Given the description of an element on the screen output the (x, y) to click on. 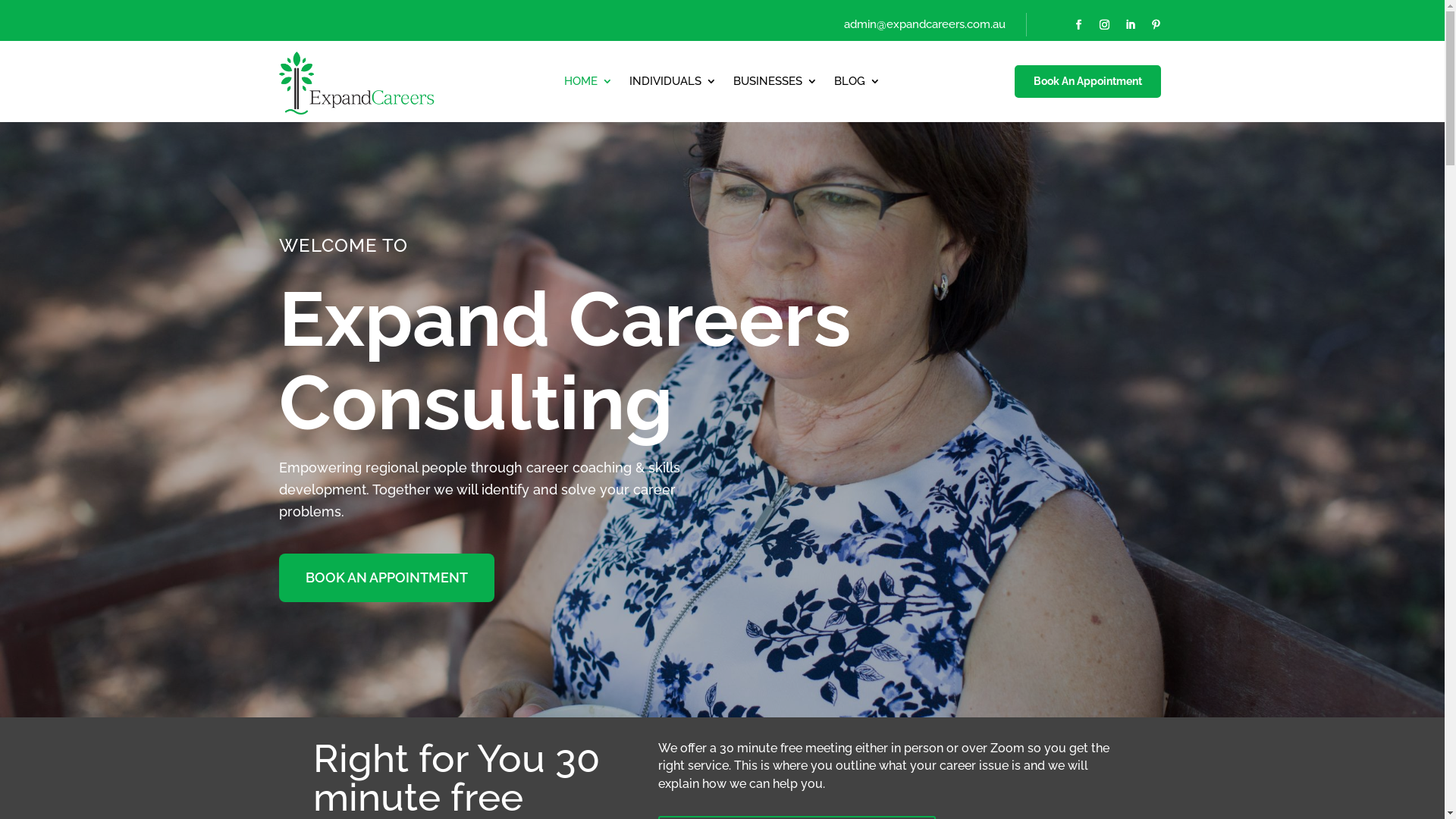
Follow on Pinterest Element type: hover (1155, 24)
Follow on LinkedIn Element type: hover (1129, 24)
BUSINESSES Element type: text (775, 83)
HOME Element type: text (588, 83)
Expand-Careers-horiz-logo Element type: hover (357, 80)
Book An Appointment Element type: text (1087, 81)
admin@expandcareers.com.au Element type: text (924, 24)
INDIVIDUALS Element type: text (672, 83)
Follow on Facebook Element type: hover (1078, 24)
BOOK AN APPOINTMENT Element type: text (386, 577)
BLOG Element type: text (857, 83)
Follow on Instagram Element type: hover (1103, 24)
